Given the description of an element on the screen output the (x, y) to click on. 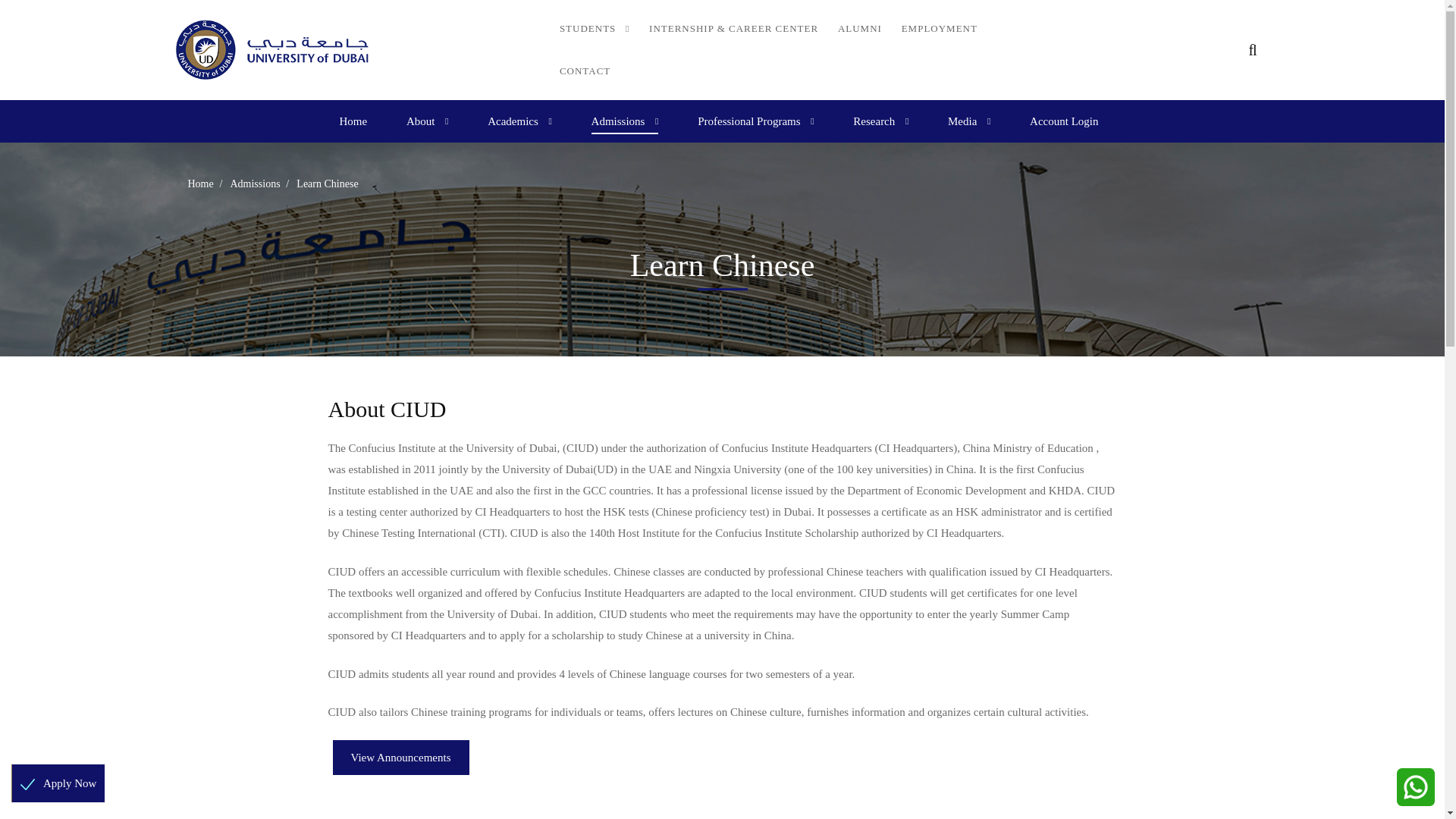
About (427, 120)
STUDENTS (594, 28)
Home (352, 120)
Academics (519, 120)
ALUMNI (859, 28)
Admissions (625, 120)
EMPLOYMENT (939, 28)
CONTACT (584, 70)
